Given the description of an element on the screen output the (x, y) to click on. 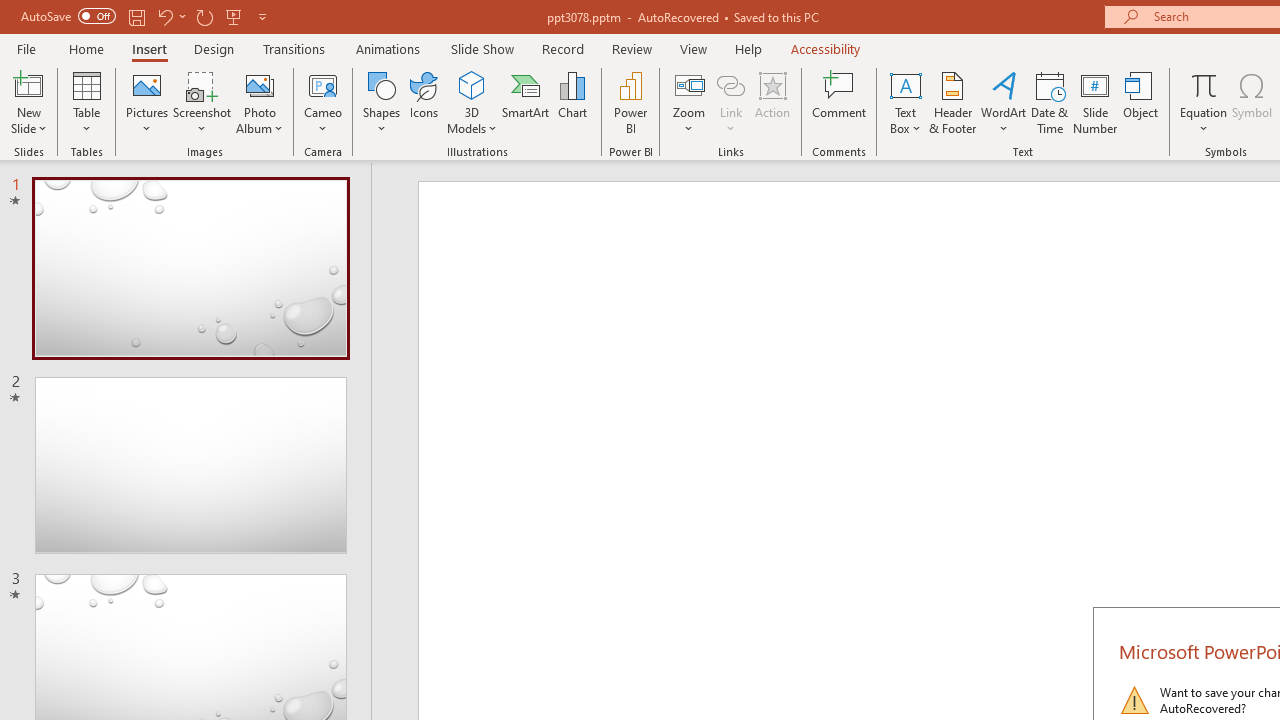
Equation (1203, 84)
Link (731, 84)
Warning Icon (1134, 699)
Photo Album... (259, 102)
Comment (839, 102)
